Given the description of an element on the screen output the (x, y) to click on. 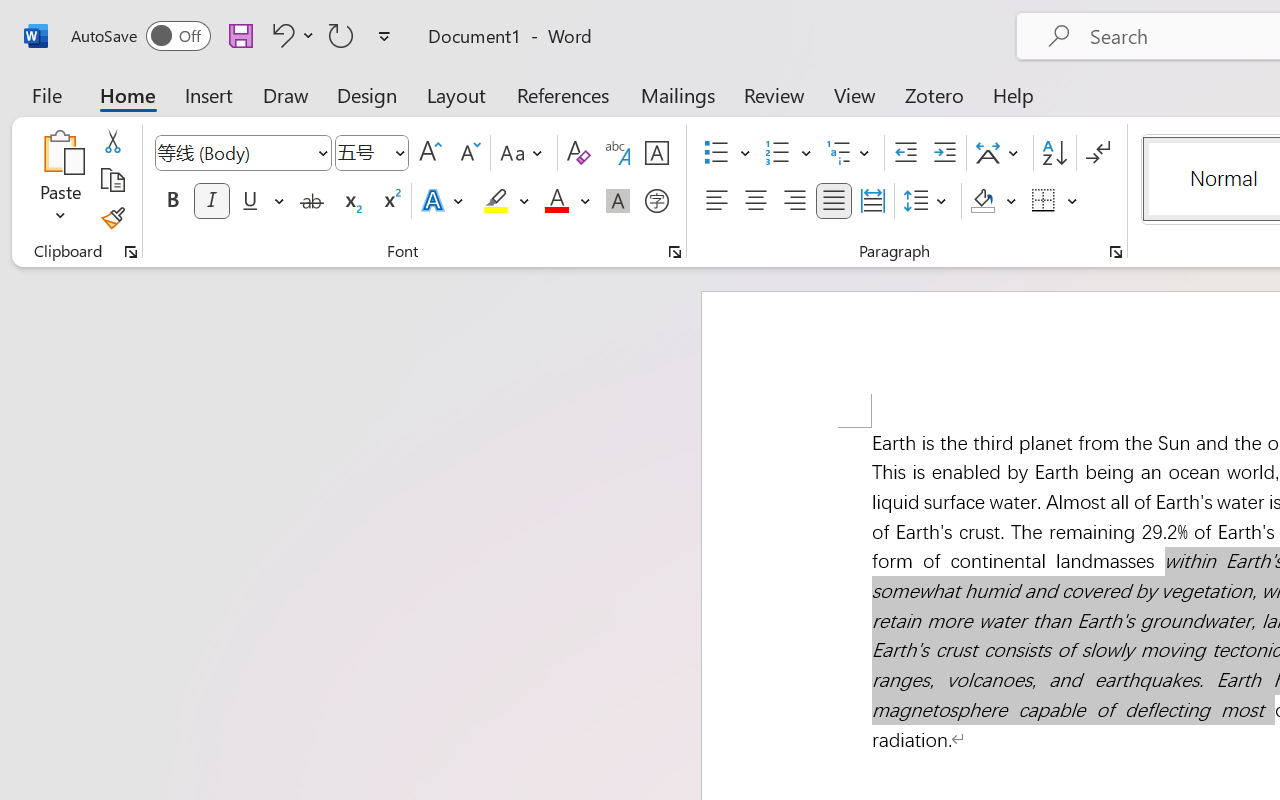
Clear Recording (412, 114)
Quick Access Toolbar (145, 18)
Cameo (91, 94)
Learn More (646, 114)
Screen Recording (290, 114)
AutoSave (68, 18)
Review (631, 54)
From Current Slide... (224, 114)
From Beginning... (158, 114)
Design (214, 54)
Audio (341, 114)
Save (136, 17)
